Given the description of an element on the screen output the (x, y) to click on. 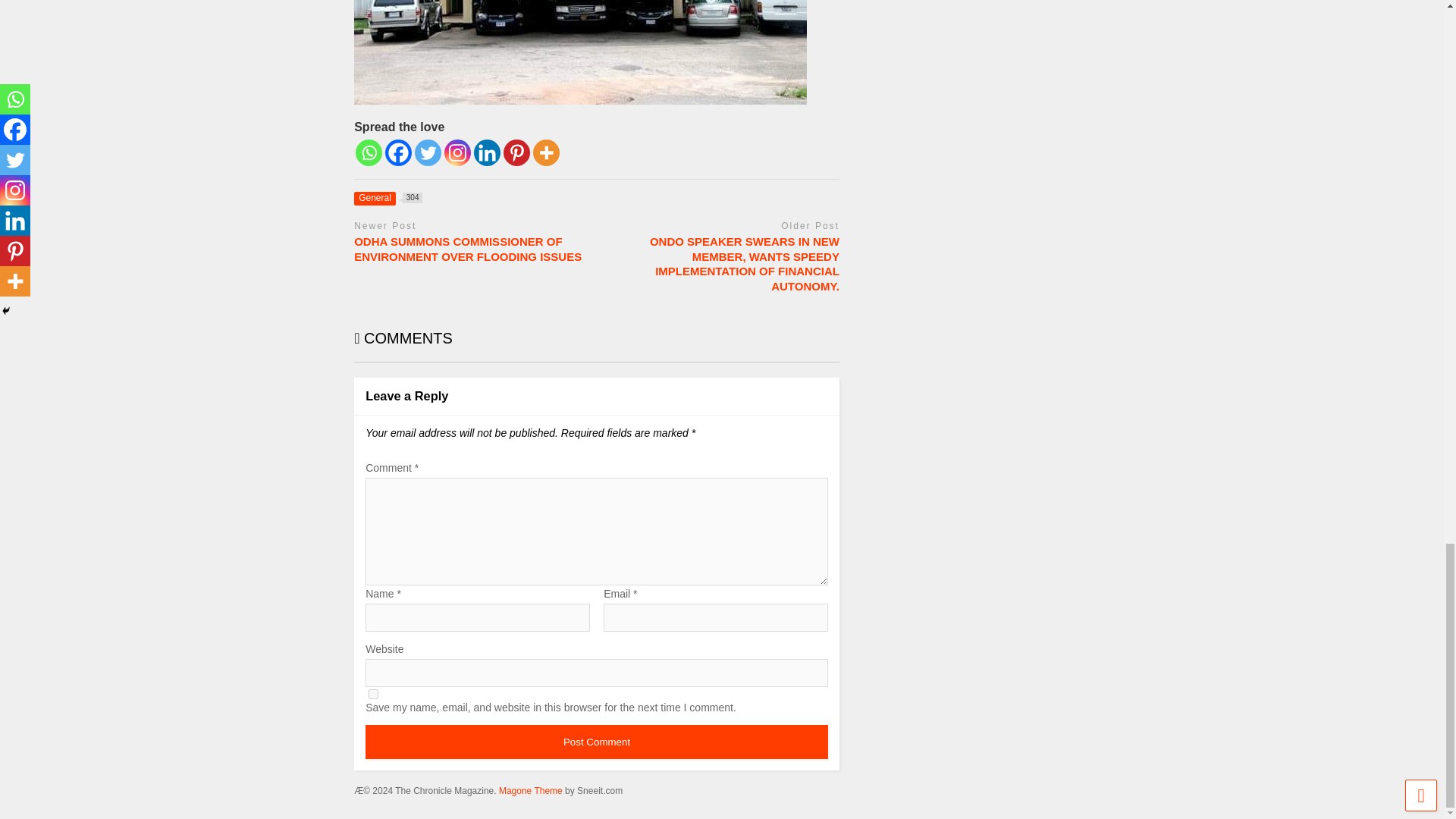
Whatsapp (368, 152)
yes (387, 197)
More (373, 694)
Instagram (545, 152)
Facebook (457, 152)
Post Comment (398, 152)
Linkedin (596, 741)
Twitter (487, 152)
